Given the description of an element on the screen output the (x, y) to click on. 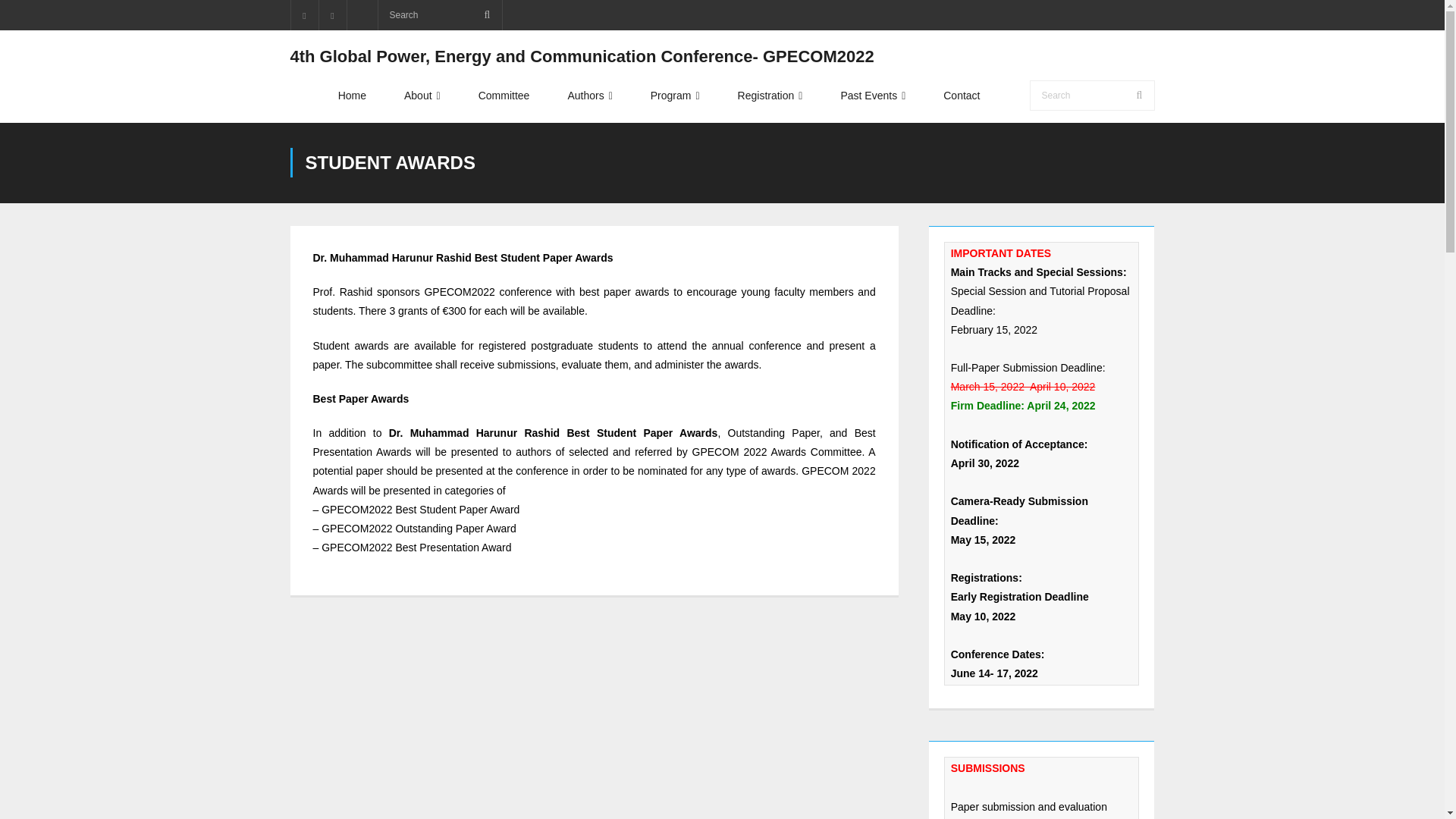
Search (33, 15)
Home (351, 95)
Program (675, 95)
Past Events (872, 95)
Registration (770, 95)
Authors (589, 95)
Committee (504, 95)
About (422, 95)
